Given the description of an element on the screen output the (x, y) to click on. 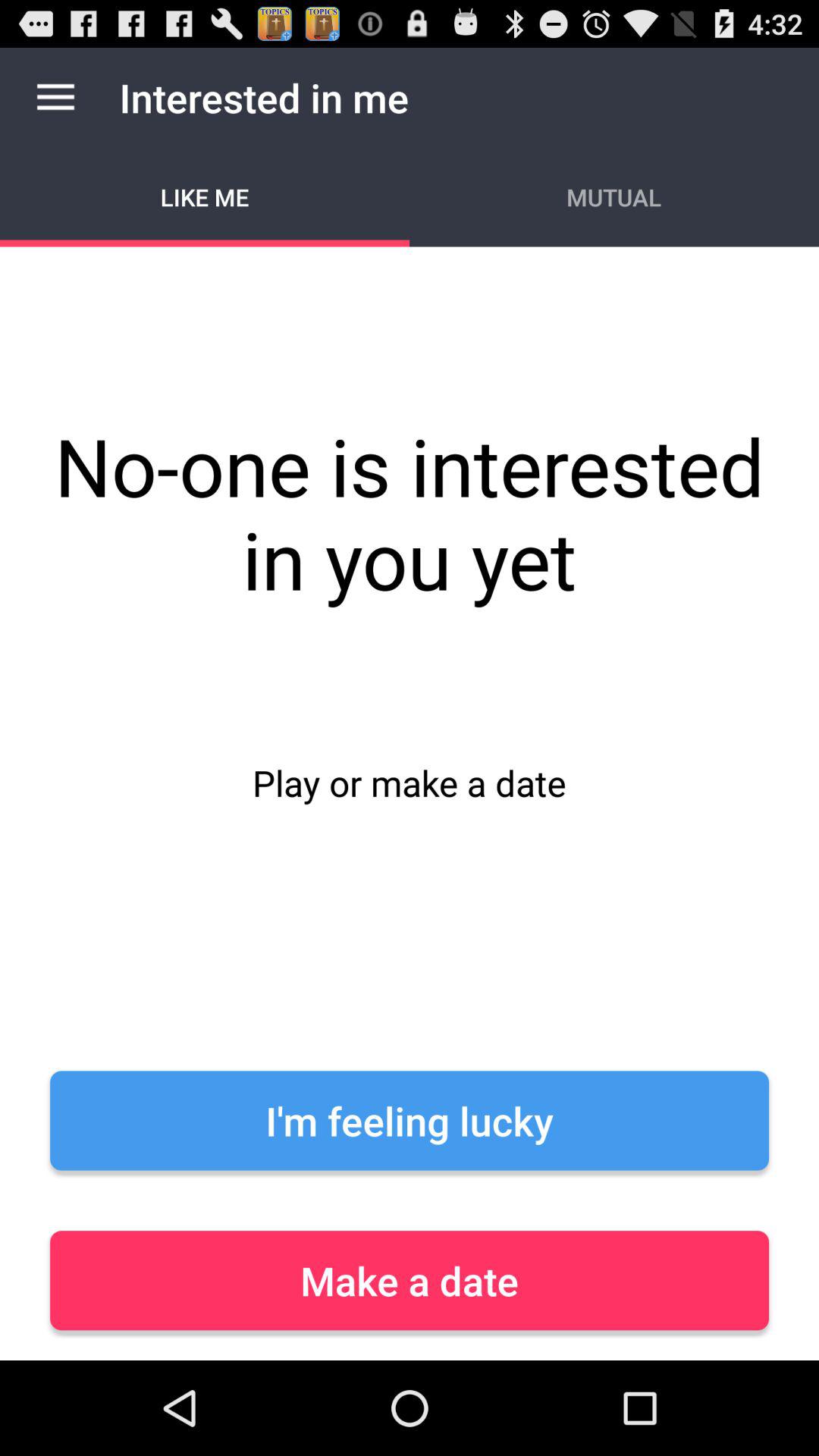
launch the icon above the make a date (409, 1120)
